Given the description of an element on the screen output the (x, y) to click on. 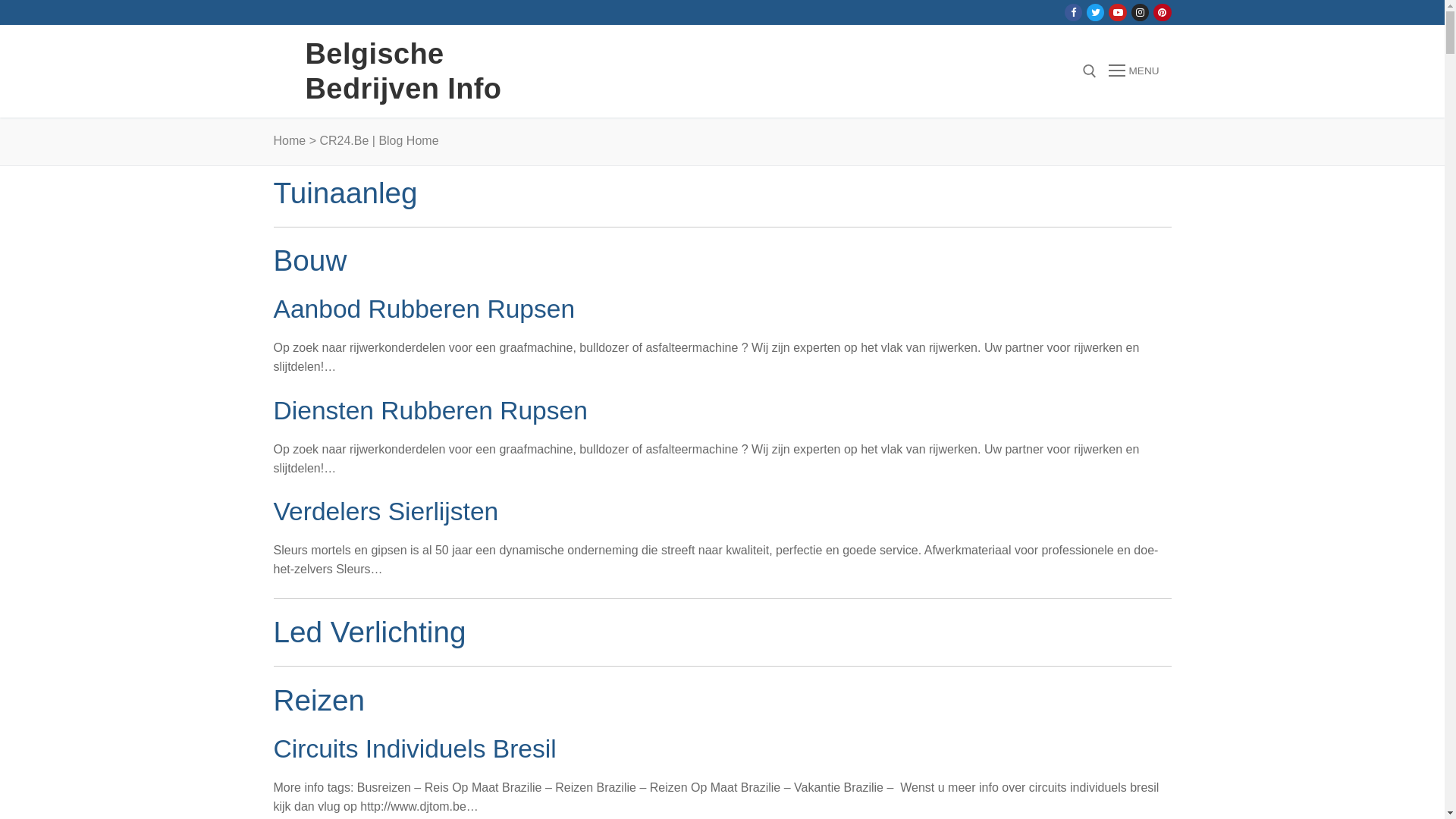
Diensten Rubberen Rupsen Element type: text (429, 410)
Facebook Element type: hover (1073, 12)
Aanbod Rubberen Rupsen Element type: text (423, 308)
Belgische Bedrijven Info Element type: text (440, 71)
Led Verlichting Element type: text (369, 631)
MENU Element type: text (1133, 71)
Spring naar de inhoud Element type: text (0, 0)
Tuinaanleg Element type: text (345, 192)
Pinterest Element type: hover (1162, 12)
Circuits Individuels Bresil Element type: text (414, 748)
Instagram Element type: hover (1140, 12)
Reizen Element type: text (318, 700)
Twitter Element type: hover (1095, 12)
Youtube Element type: hover (1118, 12)
Bouw Element type: text (309, 260)
Verdelers Sierlijsten Element type: text (385, 511)
